Given the description of an element on the screen output the (x, y) to click on. 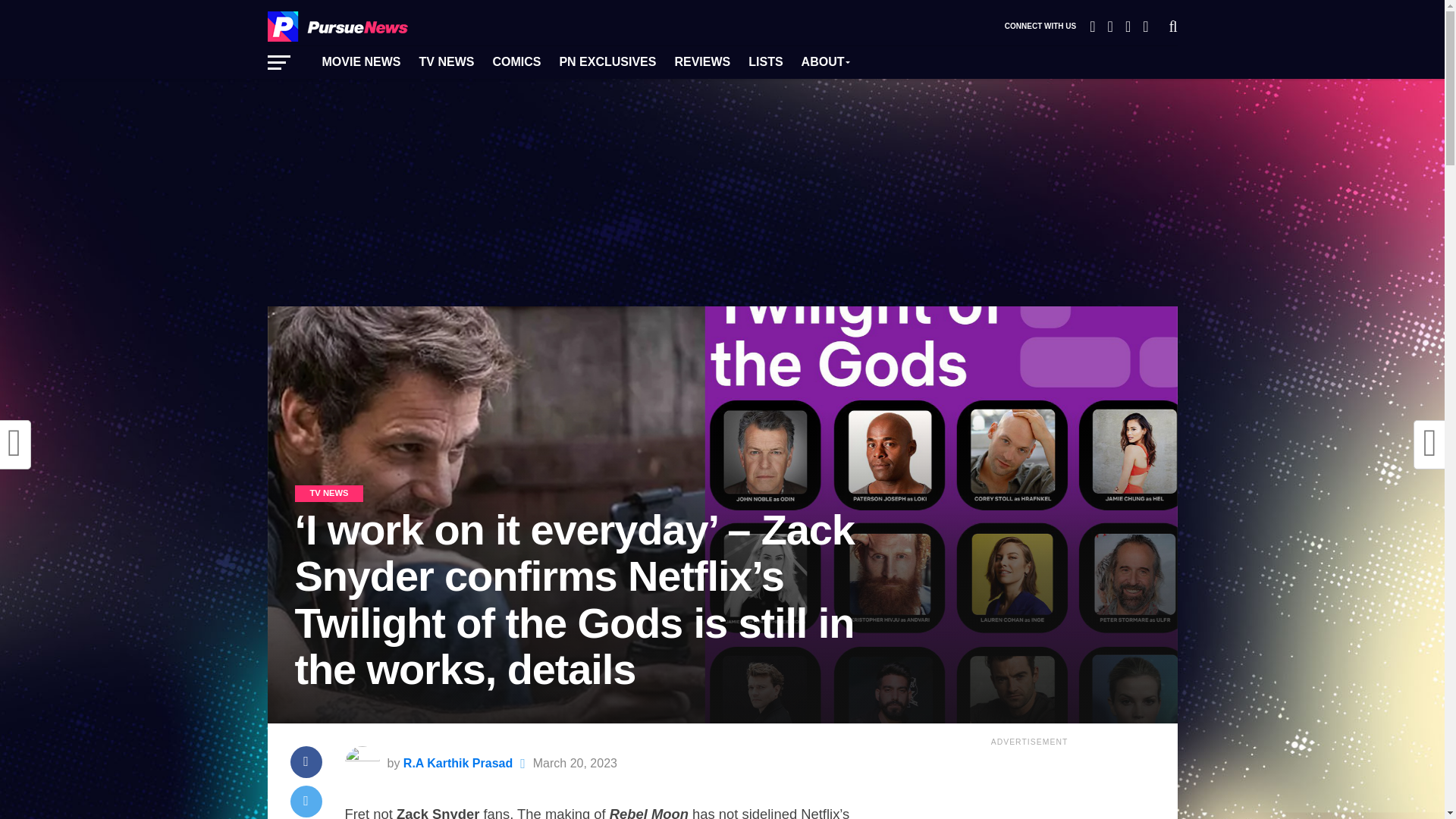
PN EXCLUSIVES (607, 61)
Posts by R.A Karthik Prasad (457, 762)
TV NEWS (446, 61)
LISTS (765, 61)
ABOUT (825, 61)
REVIEWS (702, 61)
COMICS (516, 61)
R.A Karthik Prasad (457, 762)
Advertisement (1028, 786)
MOVIE NEWS (361, 61)
